Given the description of an element on the screen output the (x, y) to click on. 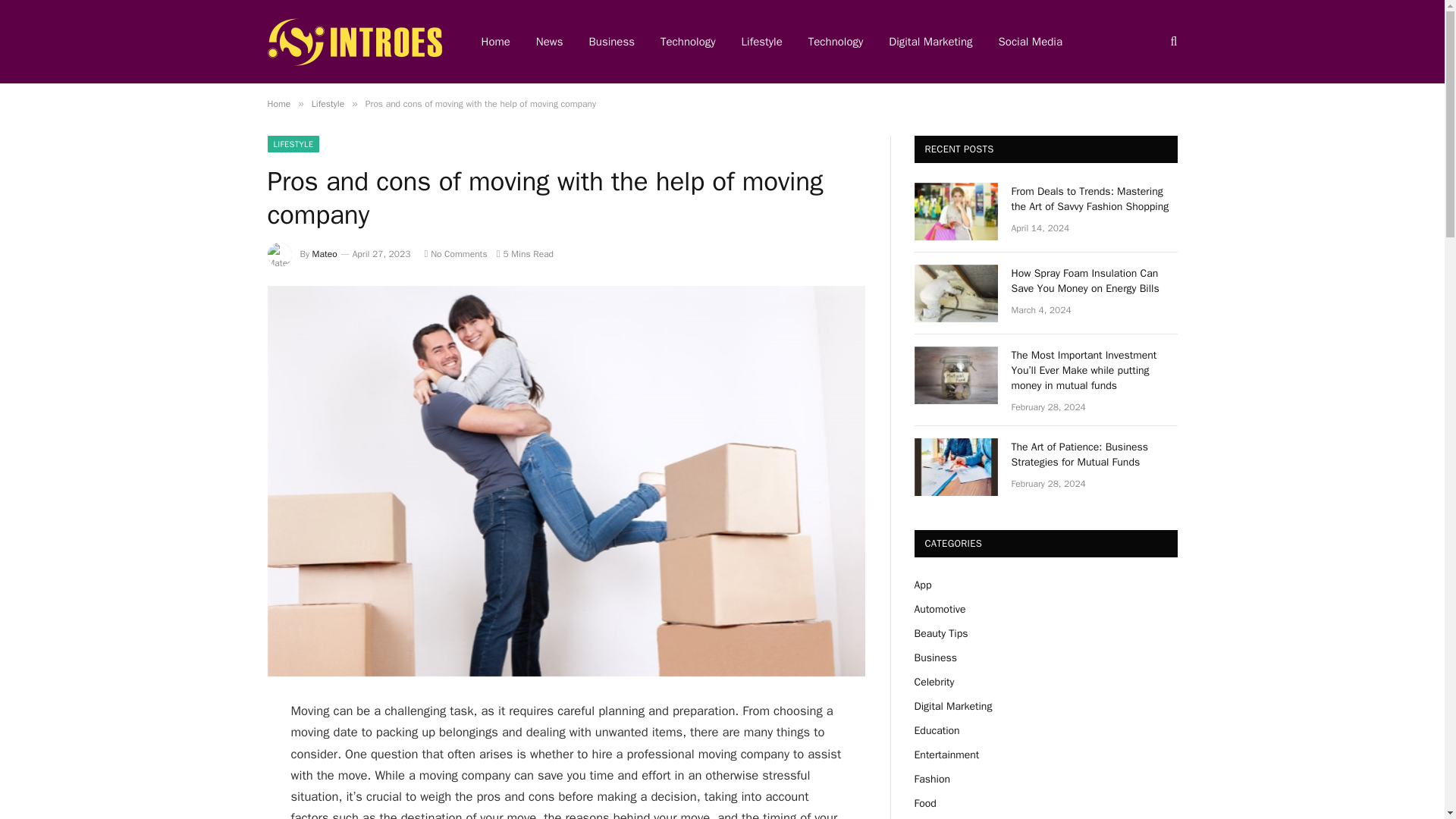
Digital Marketing (953, 706)
News (549, 41)
Lifestyle (761, 41)
App (922, 584)
Business (935, 657)
The Art of Patience: Business Strategies for Mutual Funds (955, 467)
LIFESTYLE (292, 143)
Mateo (325, 254)
Home (277, 103)
Technology (835, 41)
Posts by Mateo (325, 254)
Technology (688, 41)
